Given the description of an element on the screen output the (x, y) to click on. 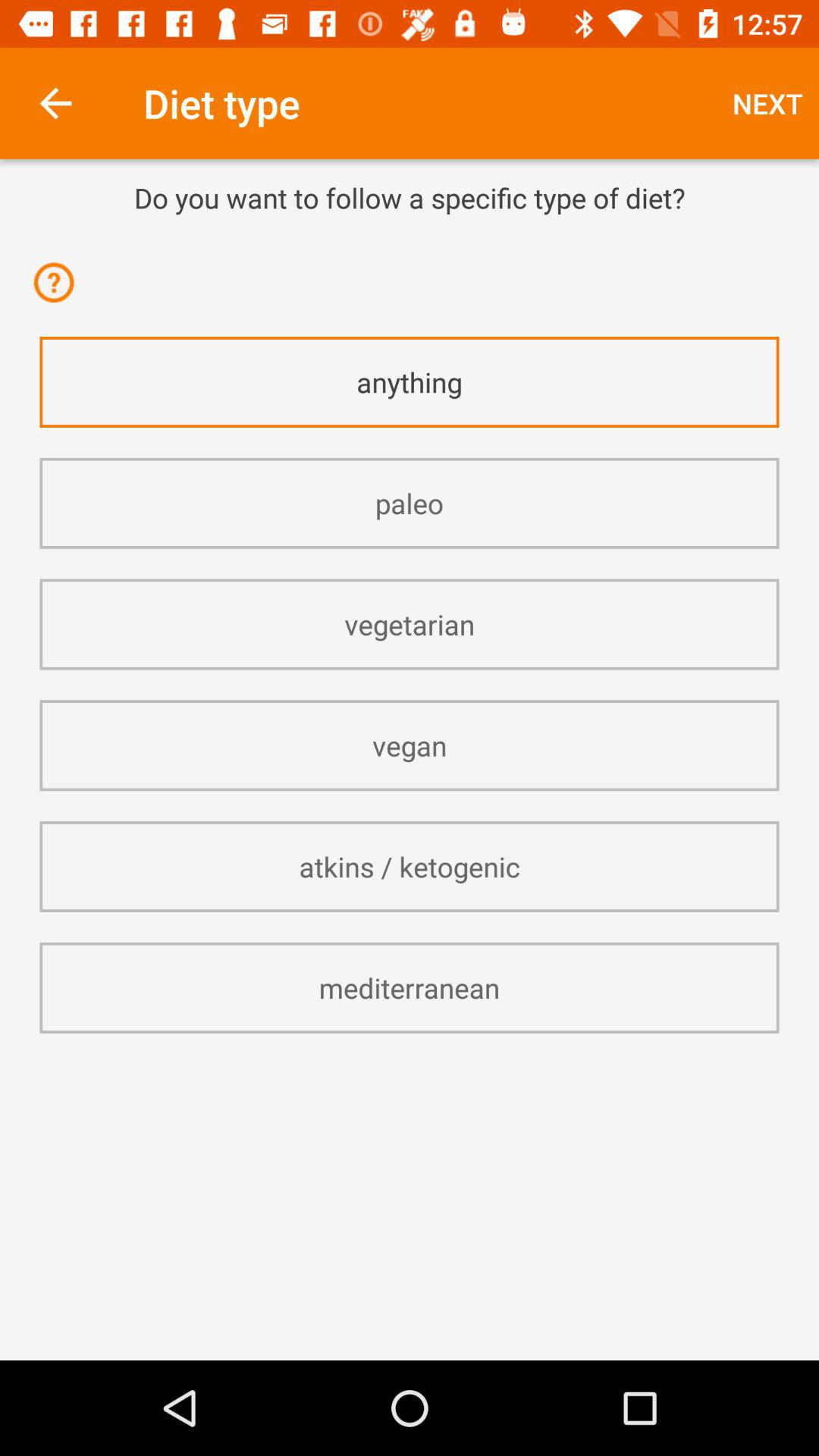
tap icon at the top right corner (767, 103)
